Given the description of an element on the screen output the (x, y) to click on. 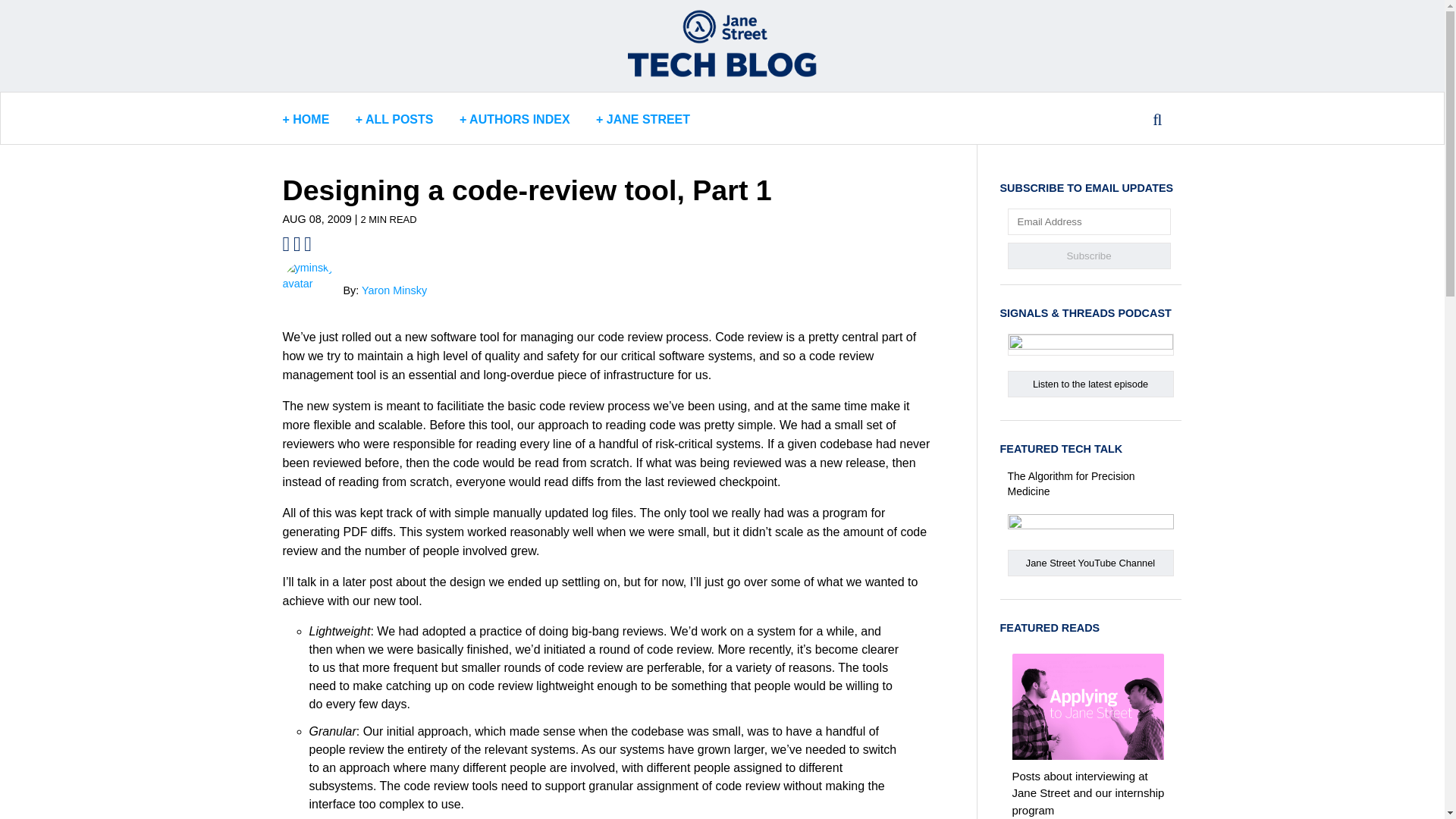
ALL POSTS (394, 119)
HOME (305, 119)
AUTHORS INDEX (514, 119)
Estimated read time (387, 219)
JANE STREET (643, 119)
Estimated read time (387, 218)
Subscribe (1088, 255)
